Given the description of an element on the screen output the (x, y) to click on. 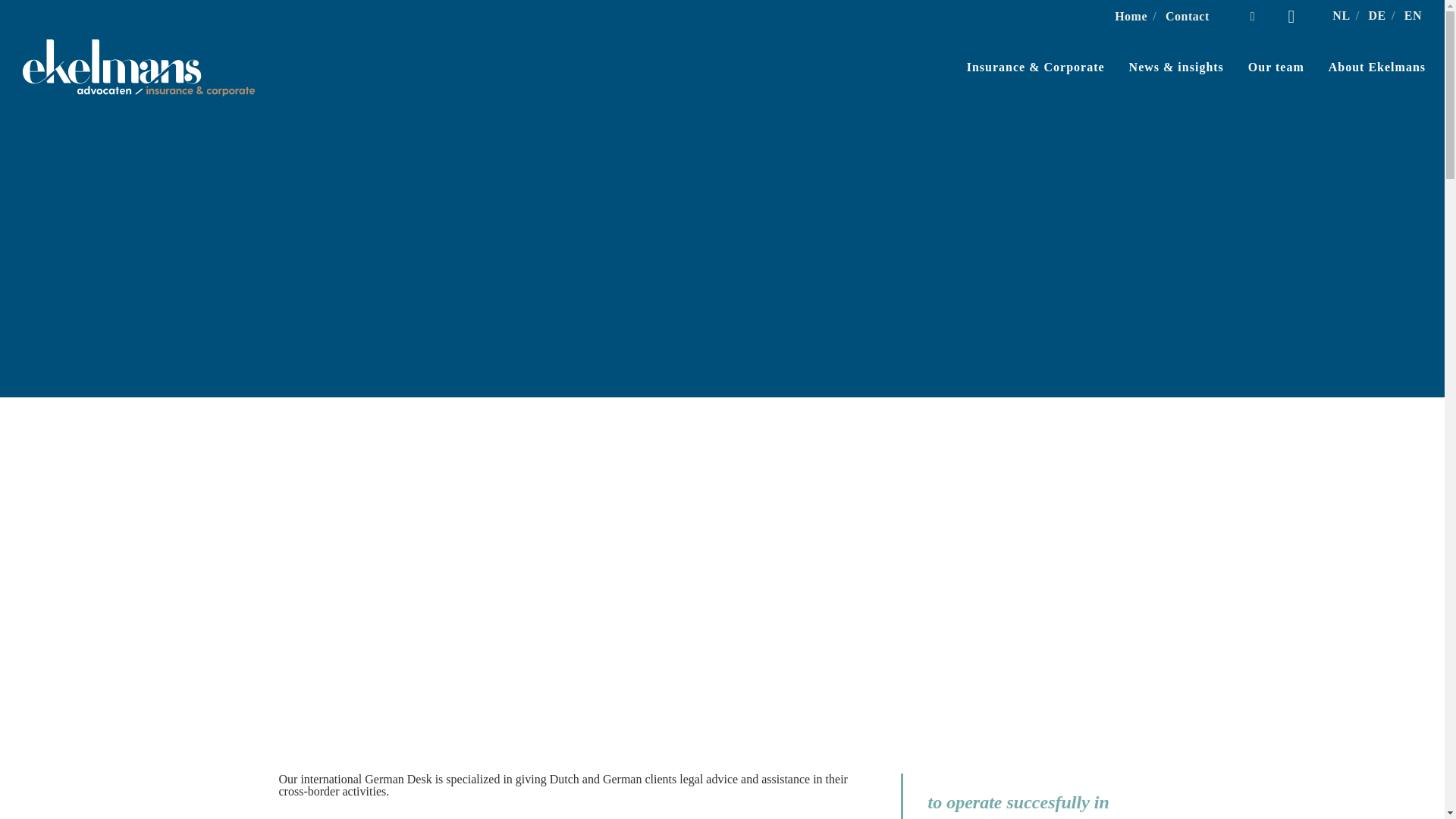
Home (1131, 15)
EN (1413, 15)
Our team (1264, 66)
DE (1377, 15)
About Ekelmans (1364, 66)
Contact (1187, 15)
NL (1340, 15)
